Given the description of an element on the screen output the (x, y) to click on. 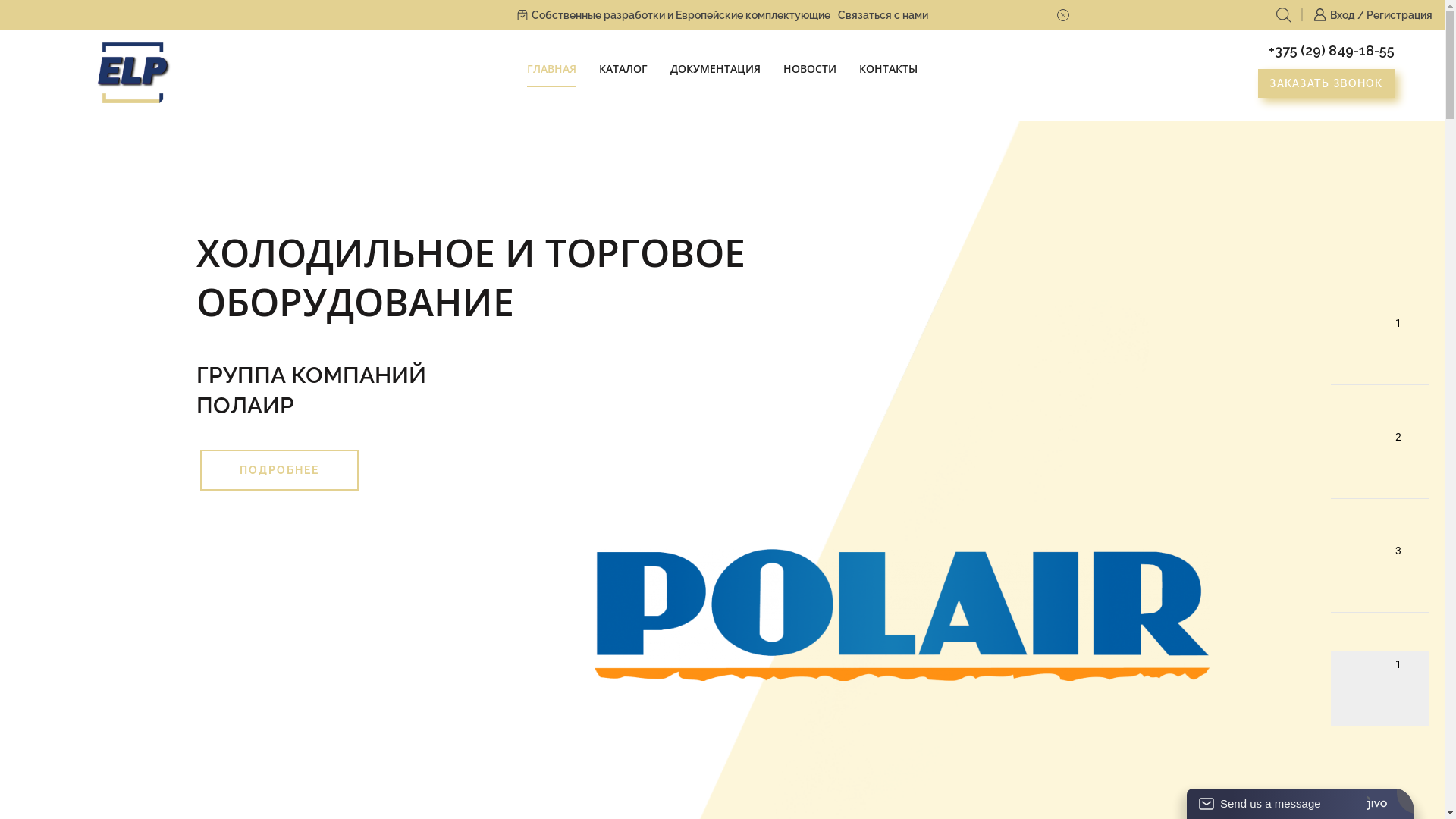
+375 (29) 849-18-55 Element type: text (1331, 50)
